Given the description of an element on the screen output the (x, y) to click on. 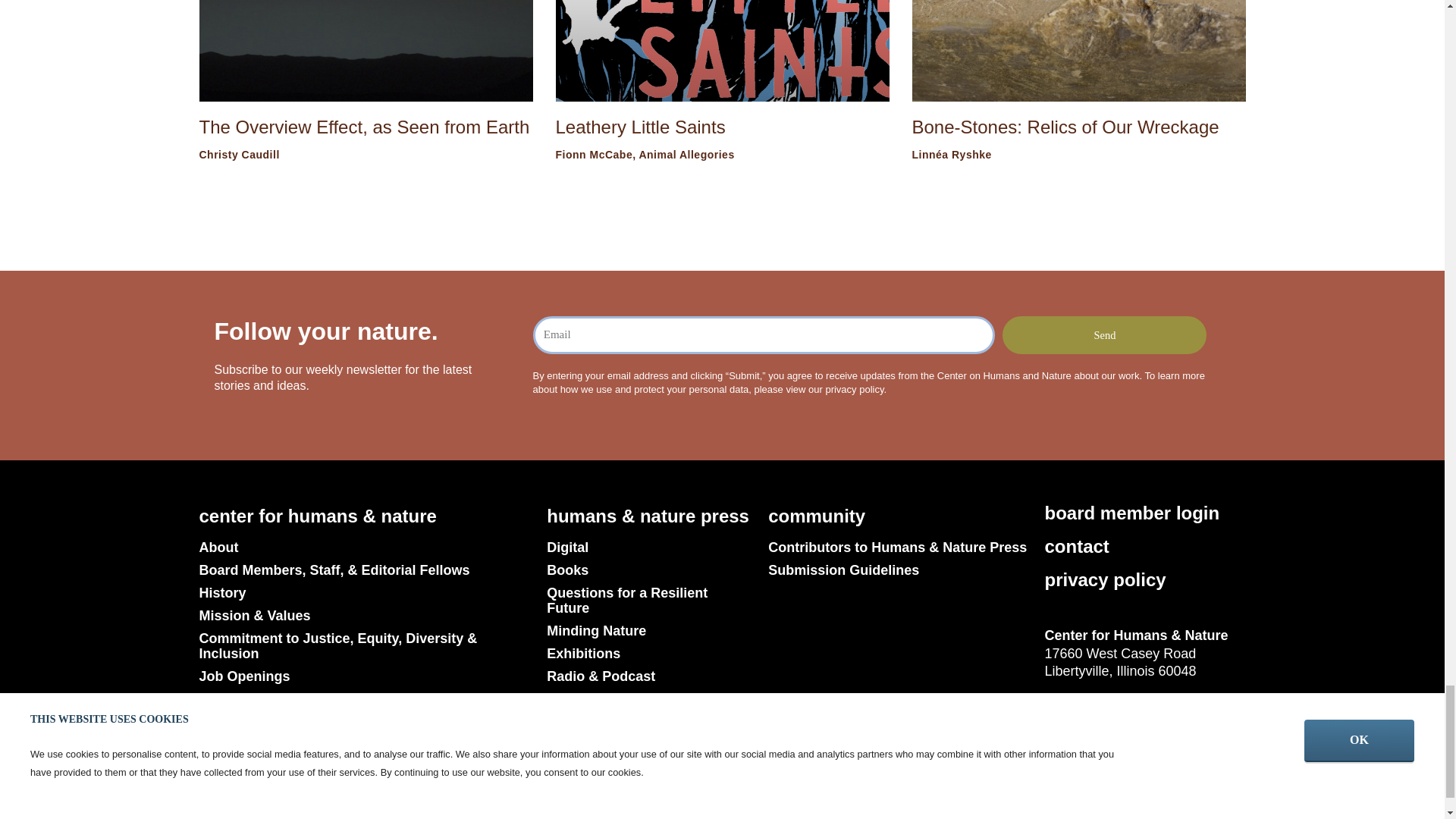
Leathery Little Saints (639, 127)
donate (228, 788)
History (364, 592)
About (364, 547)
Digital (649, 547)
The Overview Effect, as Seen from Earth (363, 127)
Bone-Stones: Relics of Our Wreckage (1064, 127)
events (227, 714)
Send (1105, 334)
Job Openings (364, 676)
news (221, 752)
